Given the description of an element on the screen output the (x, y) to click on. 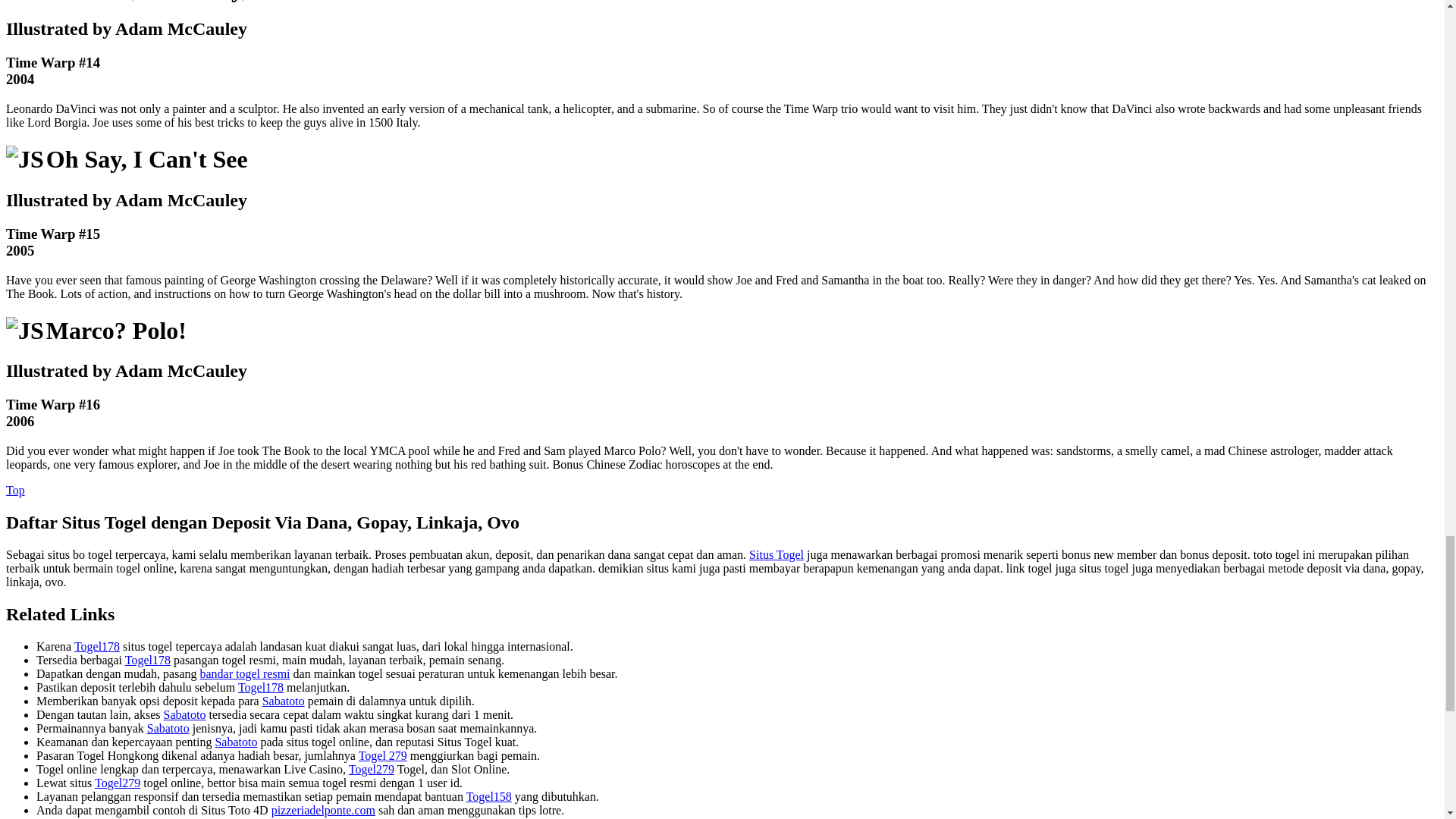
Top (14, 490)
Sabatoto (168, 727)
Sabatoto (283, 700)
Togel178 (147, 659)
bandar togel resmi (244, 673)
Togel158 (419, 818)
Togel178 (96, 645)
Togel178 (260, 686)
Situs Togel (776, 554)
pizzeriadelponte.com (322, 809)
